Given the description of an element on the screen output the (x, y) to click on. 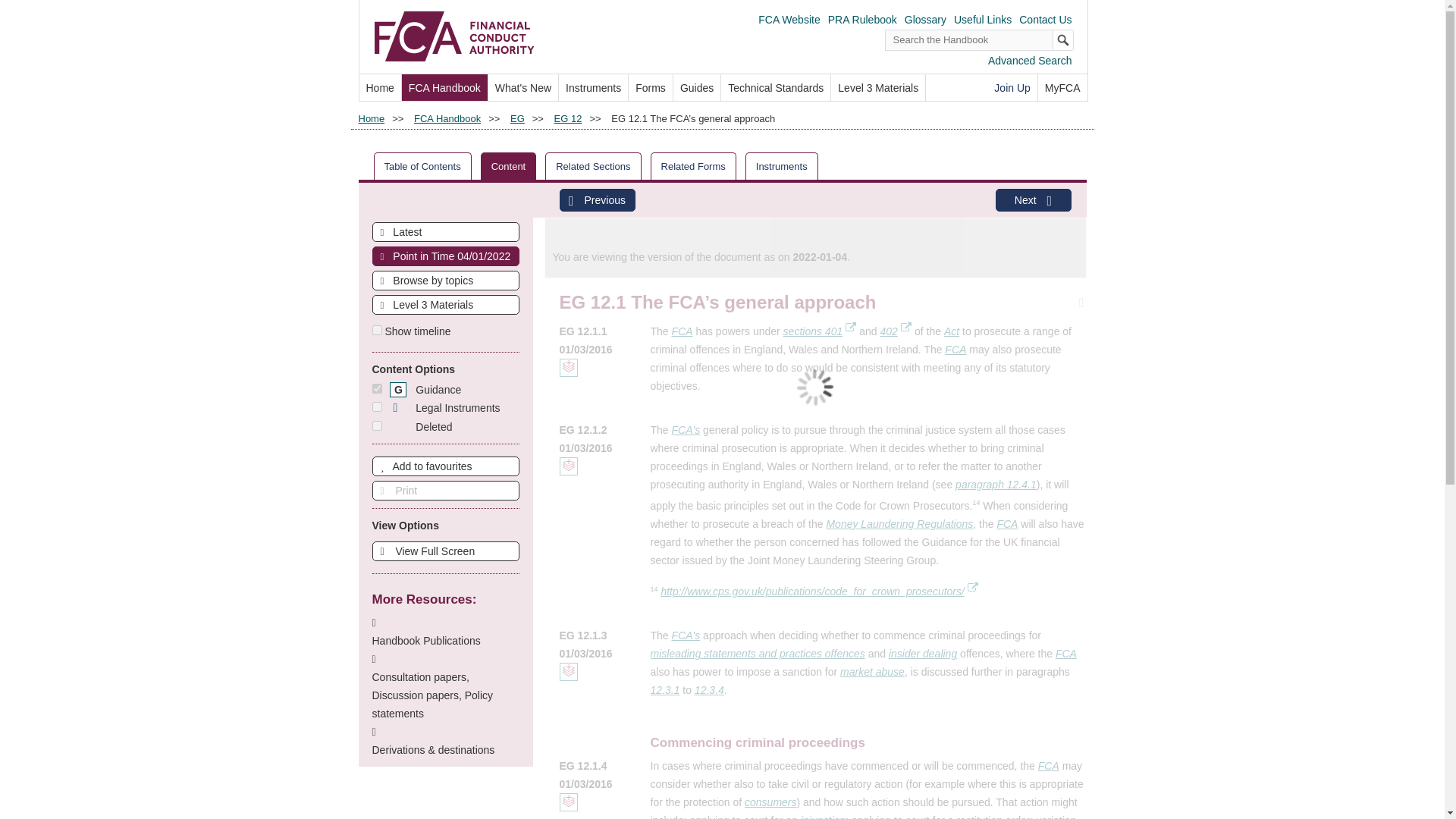
Advanced Search (1029, 60)
Add to favourites (444, 465)
Search (1063, 39)
Toggle deleted sections on and off (420, 426)
Navigate one page forwards (1032, 200)
Toggle deleted sections on and off (376, 425)
View all rule-making and amending instruments (593, 87)
Join Up (1011, 87)
deleted (376, 425)
